Given the description of an element on the screen output the (x, y) to click on. 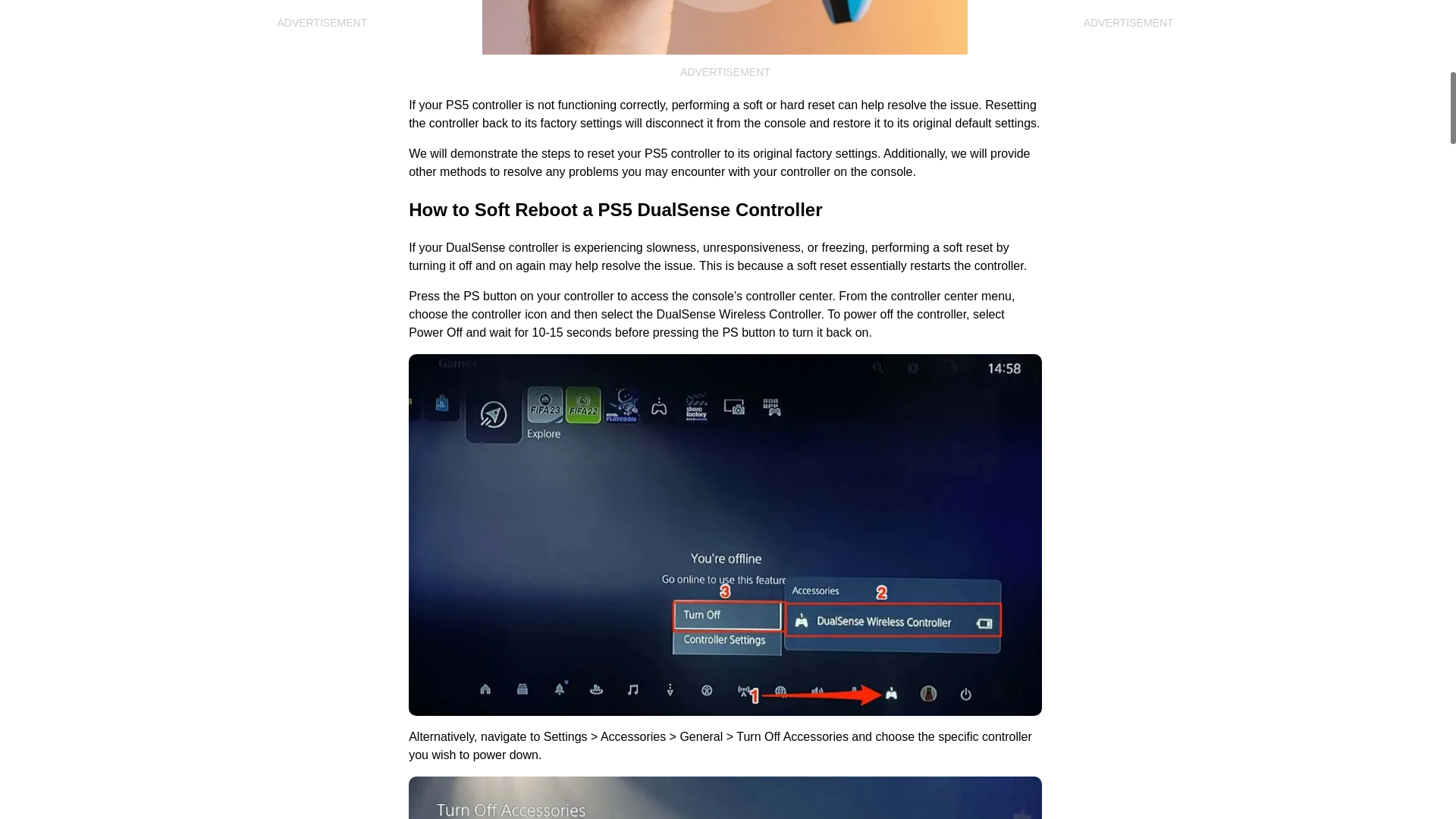
Advertisement (321, 68)
